Given the description of an element on the screen output the (x, y) to click on. 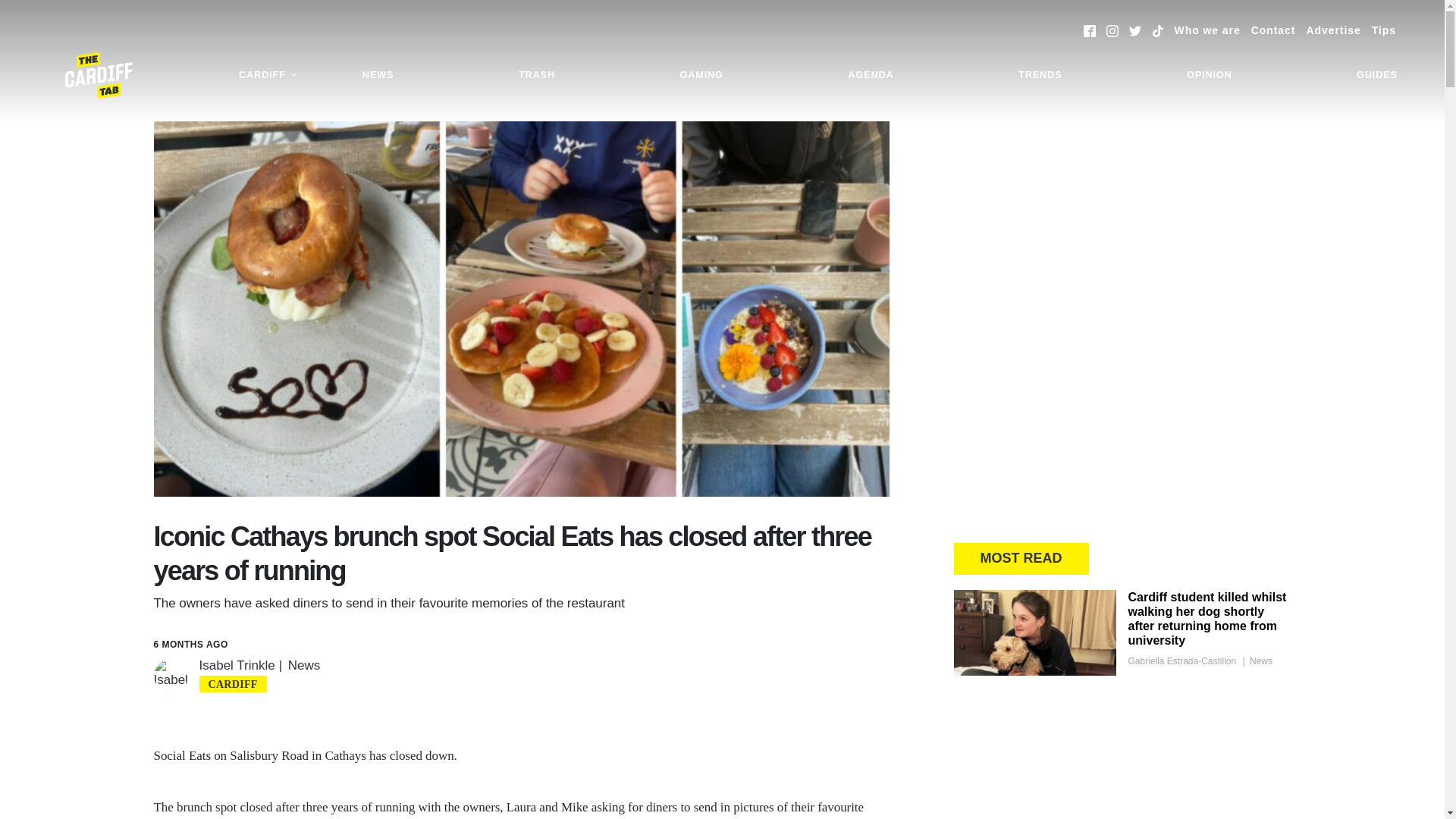
Tips (1383, 29)
TRENDS (1040, 75)
CARDIFF (267, 75)
Who we are (1207, 29)
NEWS (378, 75)
AGENDA (869, 75)
Contact (1272, 29)
OPINION (1208, 75)
TRASH (536, 75)
GUIDES (1377, 75)
Advertise (1332, 29)
GAMING (700, 75)
